Given the description of an element on the screen output the (x, y) to click on. 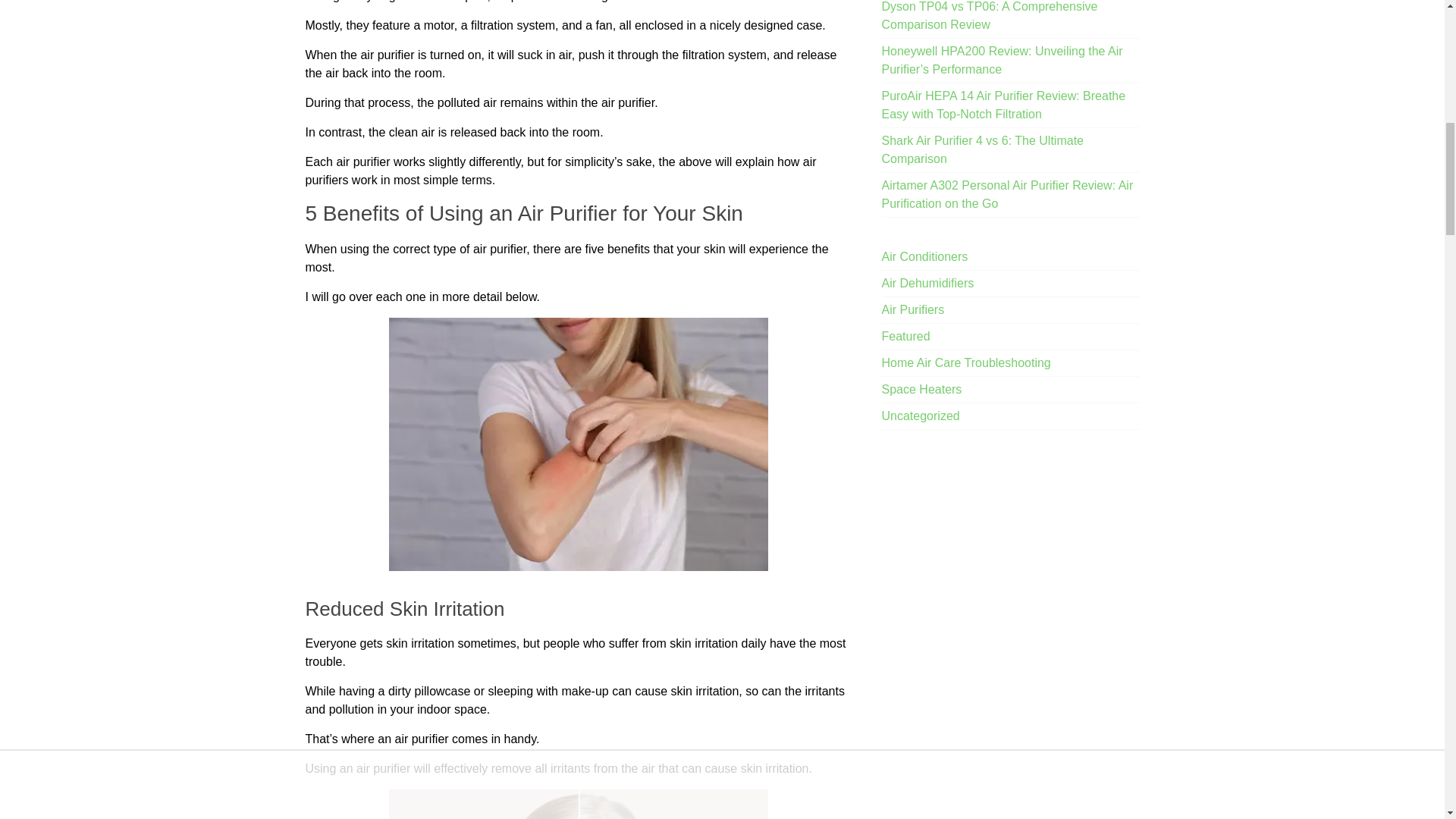
Air Conditioners (925, 256)
Air Purifiers (913, 309)
Uncategorized (920, 415)
Space Heaters (922, 388)
Air Dehumidifiers (928, 282)
Home Air Care Troubleshooting (966, 362)
Shark Air Purifier 4 vs 6: The Ultimate Comparison (982, 148)
Dyson TP04 vs TP06: A Comprehensive Comparison Review (989, 15)
Featured (906, 335)
